Given the description of an element on the screen output the (x, y) to click on. 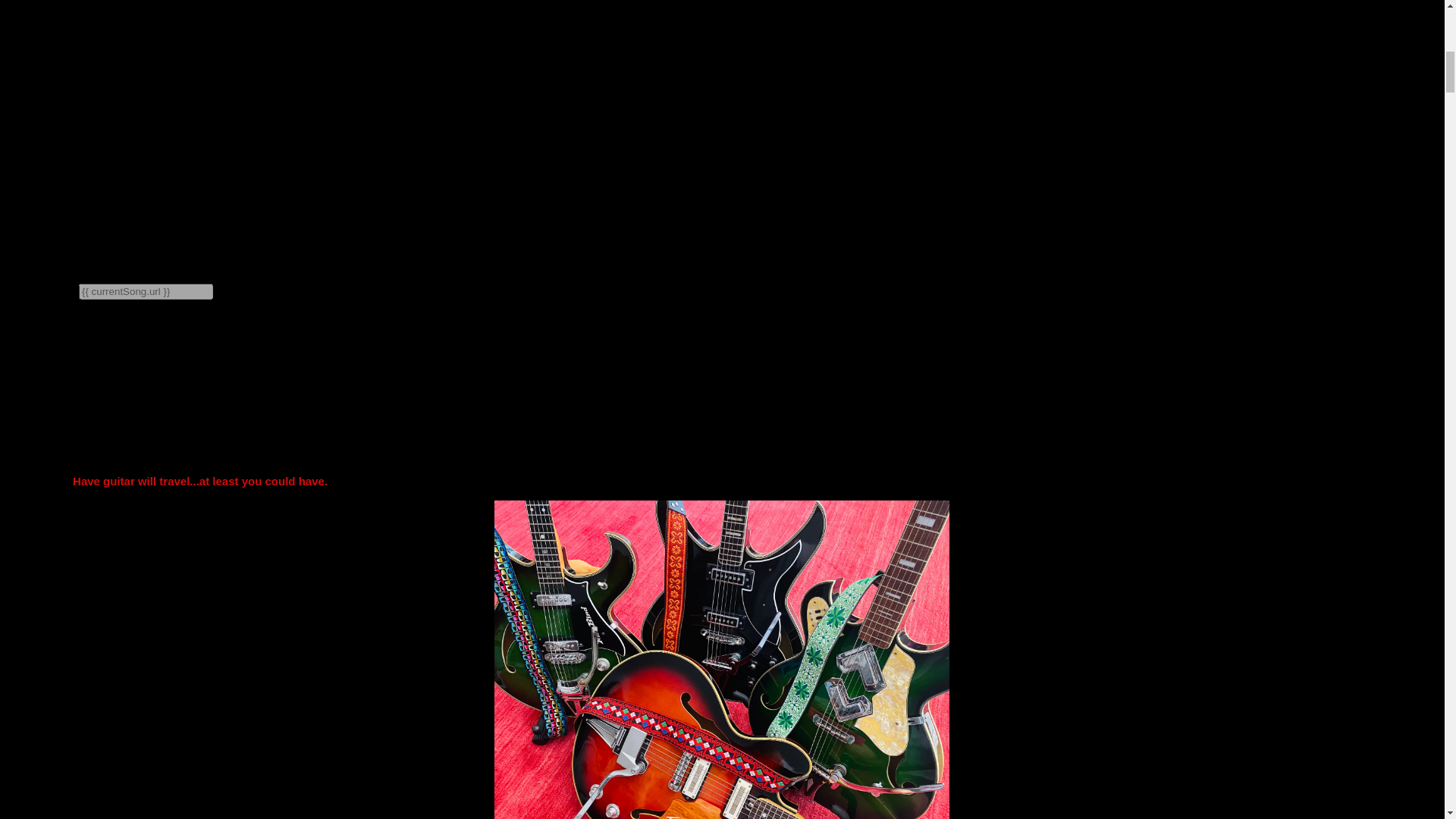
Have guitar will travel...at least you could have. (199, 481)
